Given the description of an element on the screen output the (x, y) to click on. 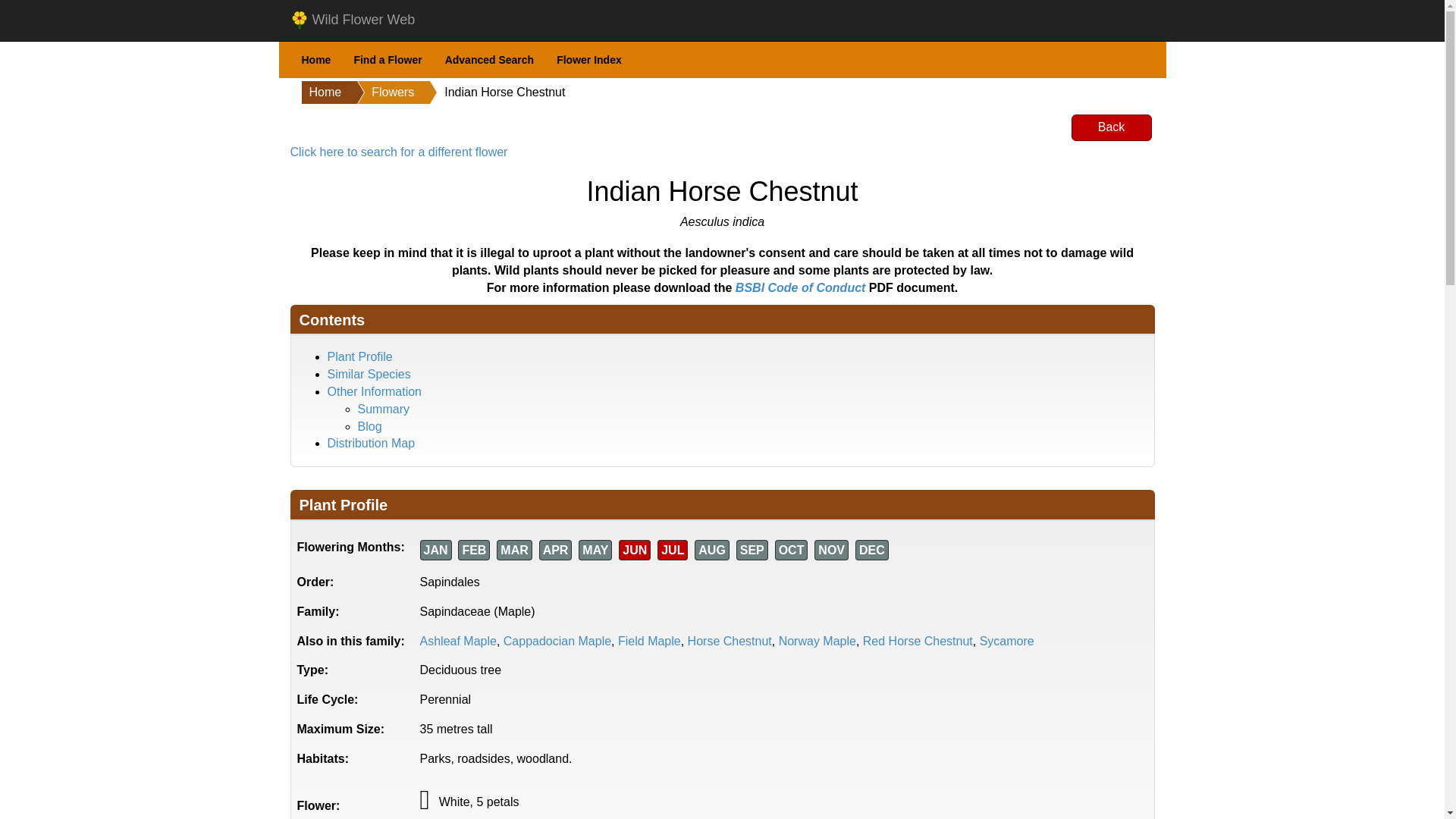
Summary (383, 408)
Home (315, 60)
Flower Index (588, 60)
Click here to search for a different flower (397, 151)
BSBI Code of Conduct (800, 287)
Plant Profile (360, 356)
Home (321, 92)
Blog (369, 426)
Field Maple (649, 640)
Advanced Search (489, 60)
Red Horse Chestnut (917, 640)
Sycamore (1006, 640)
Find a Flower (387, 60)
Other Information (374, 391)
Distribution Map (370, 442)
